Given the description of an element on the screen output the (x, y) to click on. 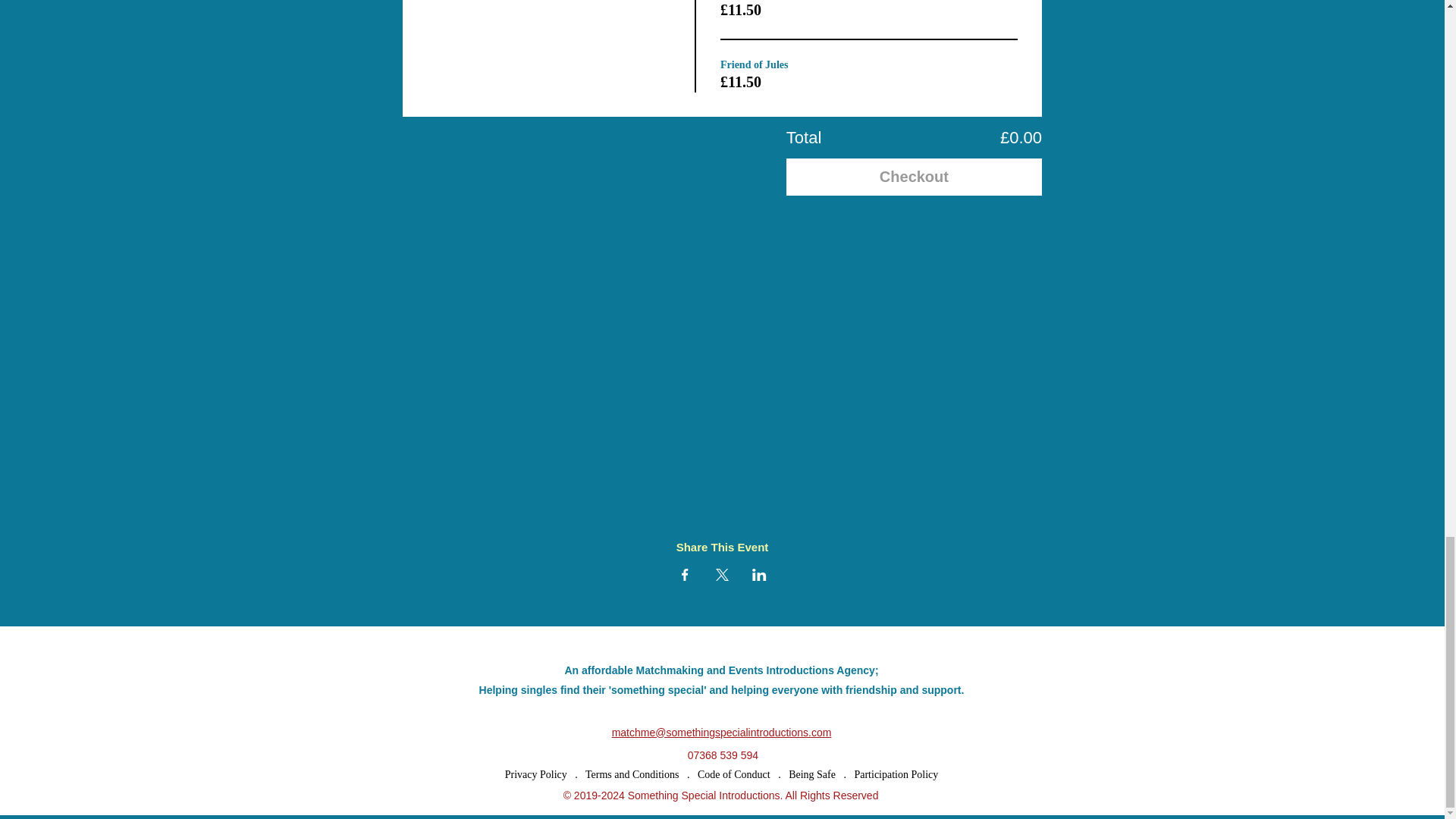
Checkout (914, 176)
